Given the description of an element on the screen output the (x, y) to click on. 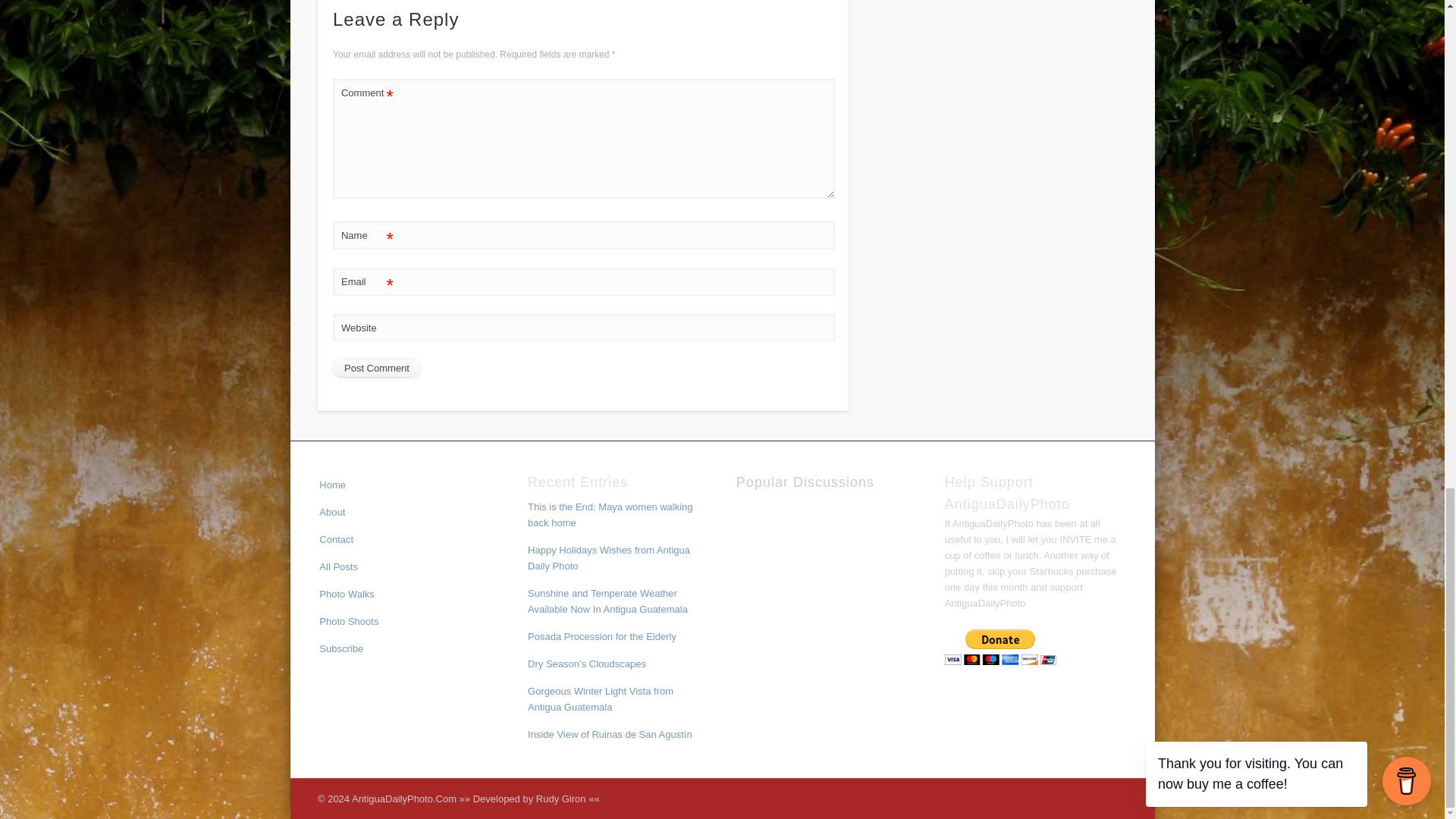
About (331, 511)
Contact (335, 539)
Post Comment (376, 368)
Home (332, 484)
Post Comment (376, 368)
Photo Walks (346, 593)
All Posts (338, 566)
Photo Shoots (348, 621)
